Given the description of an element on the screen output the (x, y) to click on. 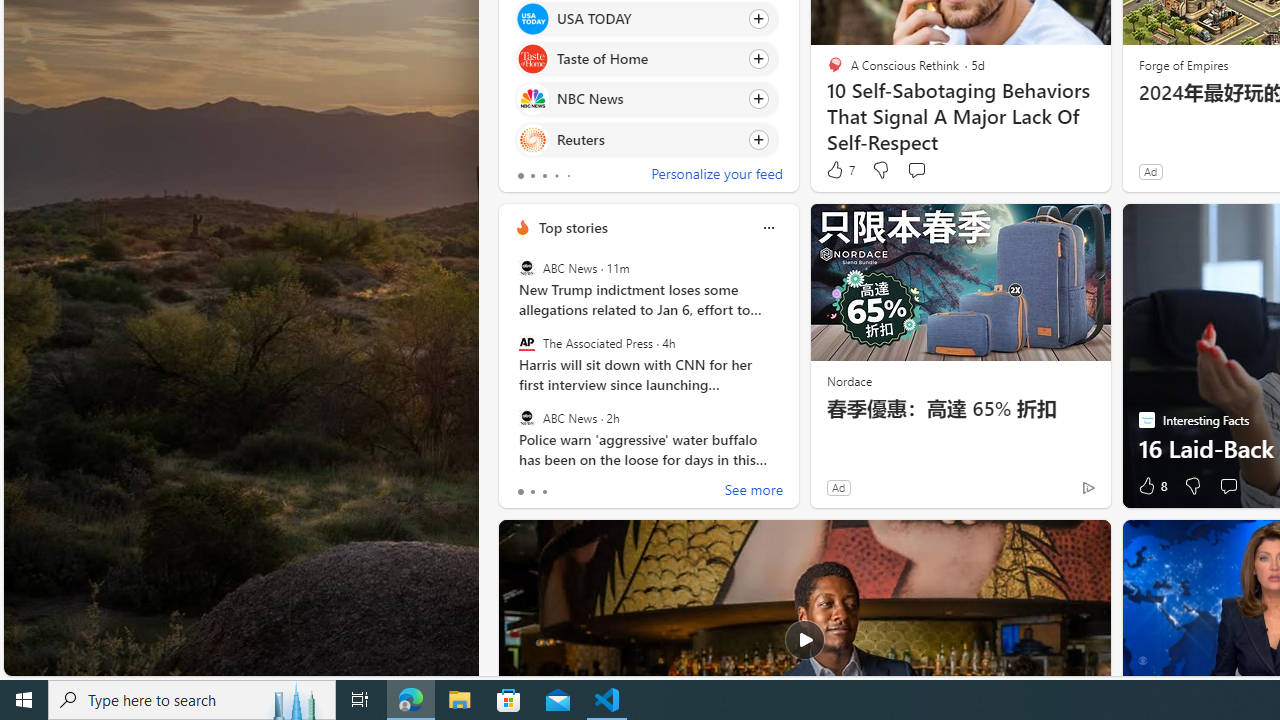
tab-3 (556, 175)
See more (1086, 543)
The Associated Press (526, 343)
Start the conversation (1227, 485)
Ad (838, 487)
previous (508, 355)
tab-4 (567, 175)
tab-2 (543, 491)
Hide this story (1050, 543)
More options (768, 227)
ABC News (526, 417)
Start the conversation (1228, 485)
Nordace (848, 380)
